Given the description of an element on the screen output the (x, y) to click on. 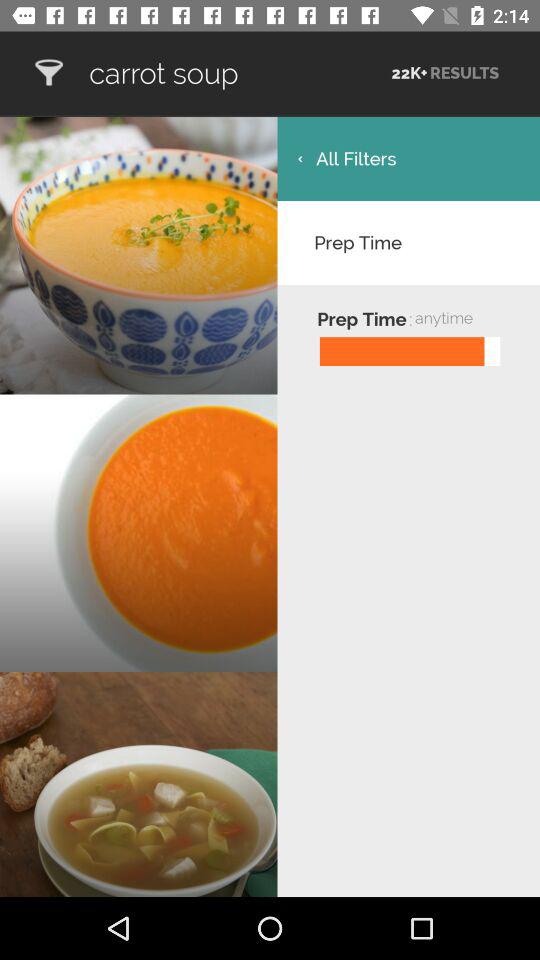
swipe to carrot soup item (238, 73)
